Given the description of an element on the screen output the (x, y) to click on. 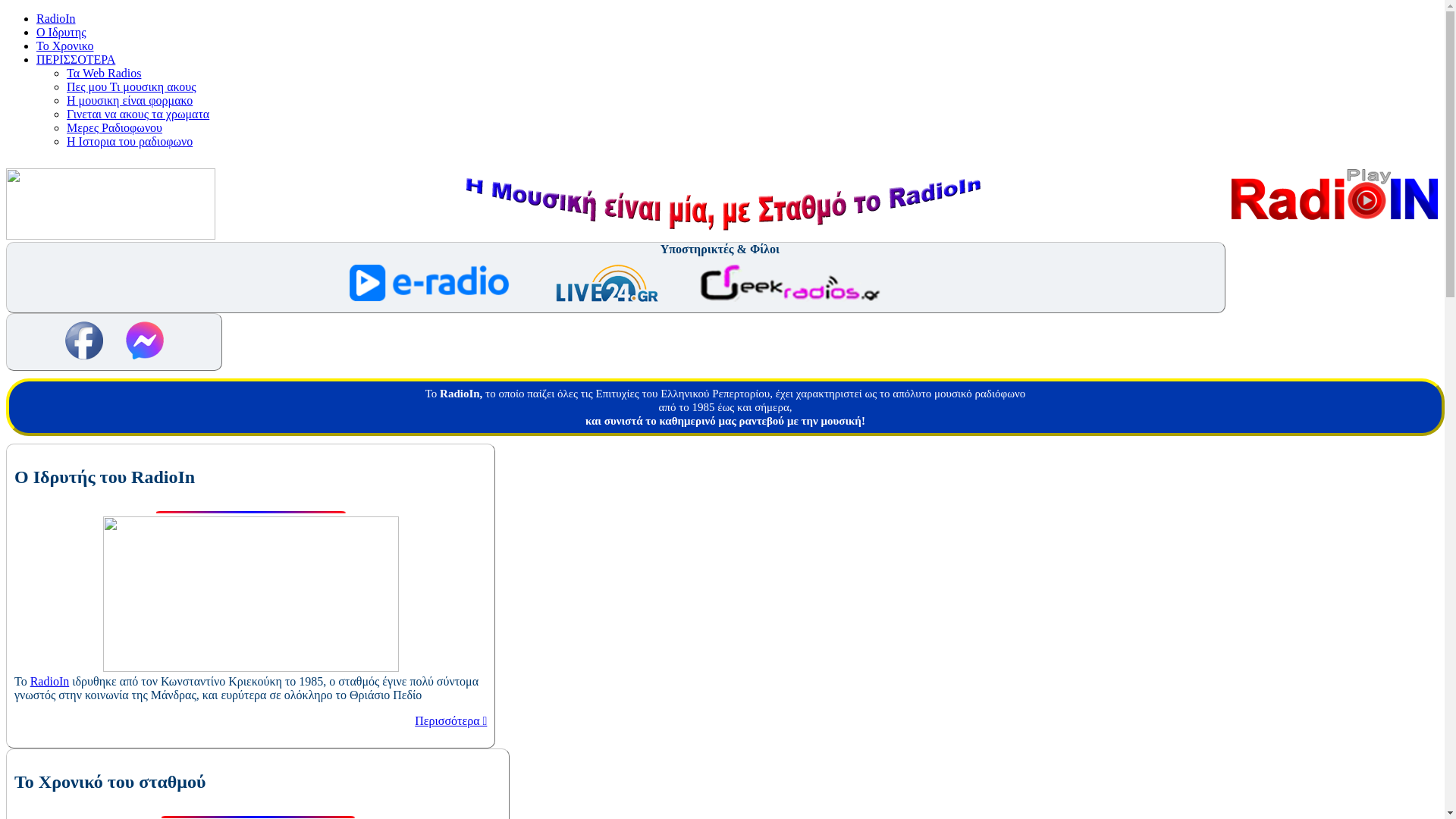
RadioIn Element type: text (49, 680)
RadioIn Element type: text (55, 18)
